Given the description of an element on the screen output the (x, y) to click on. 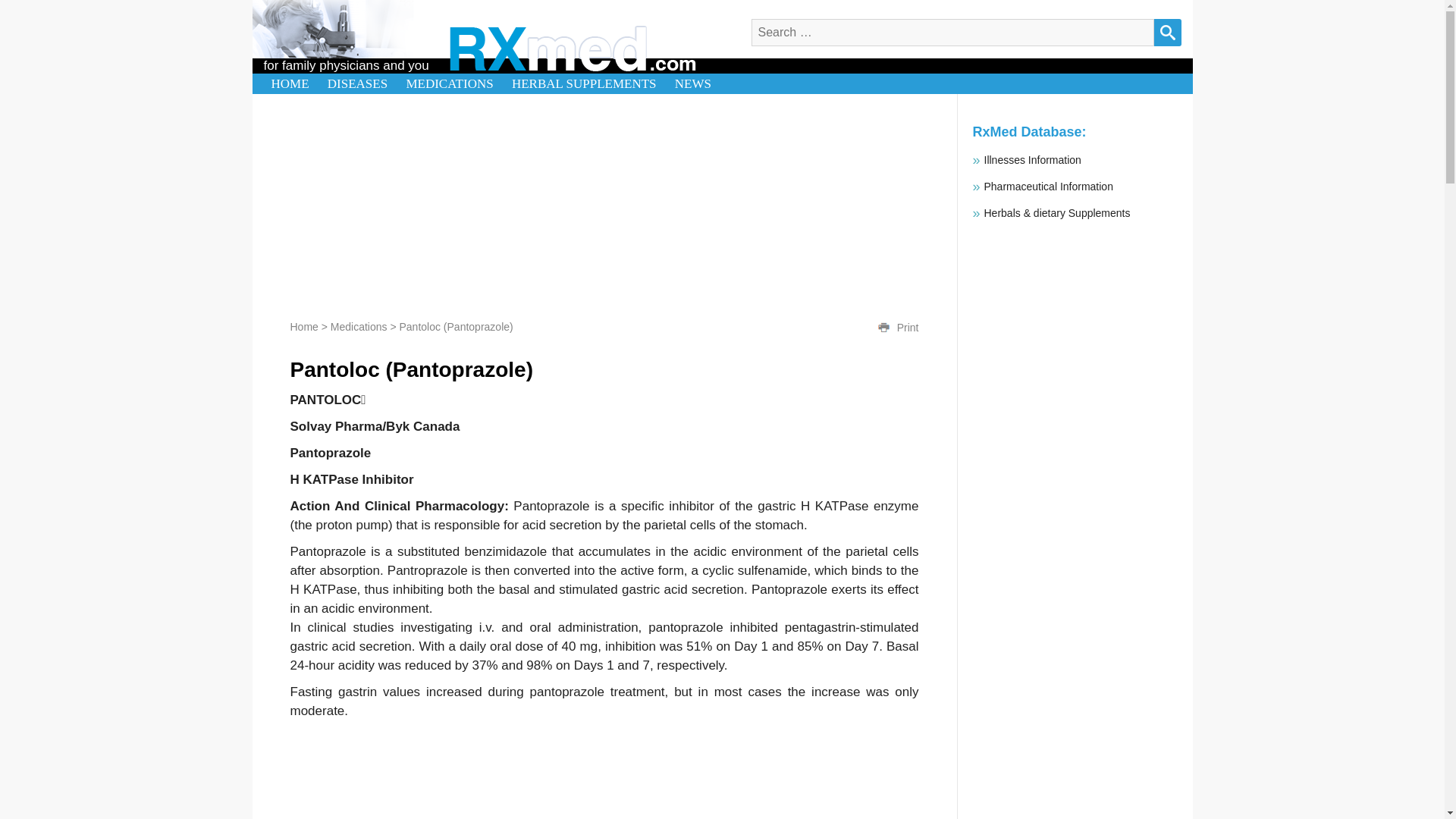
Illnesses Information (1048, 186)
Advertisement (603, 200)
Go to RxMed: Diseases and Preparations' Description. (303, 326)
The website for Family Physicians and You (290, 83)
Go to Medications. (358, 326)
DISEASES (357, 83)
Home (303, 326)
Pharmaceutical Information (1048, 186)
Illnesses Information (1032, 159)
Advertisement (1074, 771)
Advertisement (603, 773)
Illnesses Information (1032, 159)
HOME (290, 83)
Print (883, 327)
HERBAL SUPPLEMENTS (583, 83)
